Given the description of an element on the screen output the (x, y) to click on. 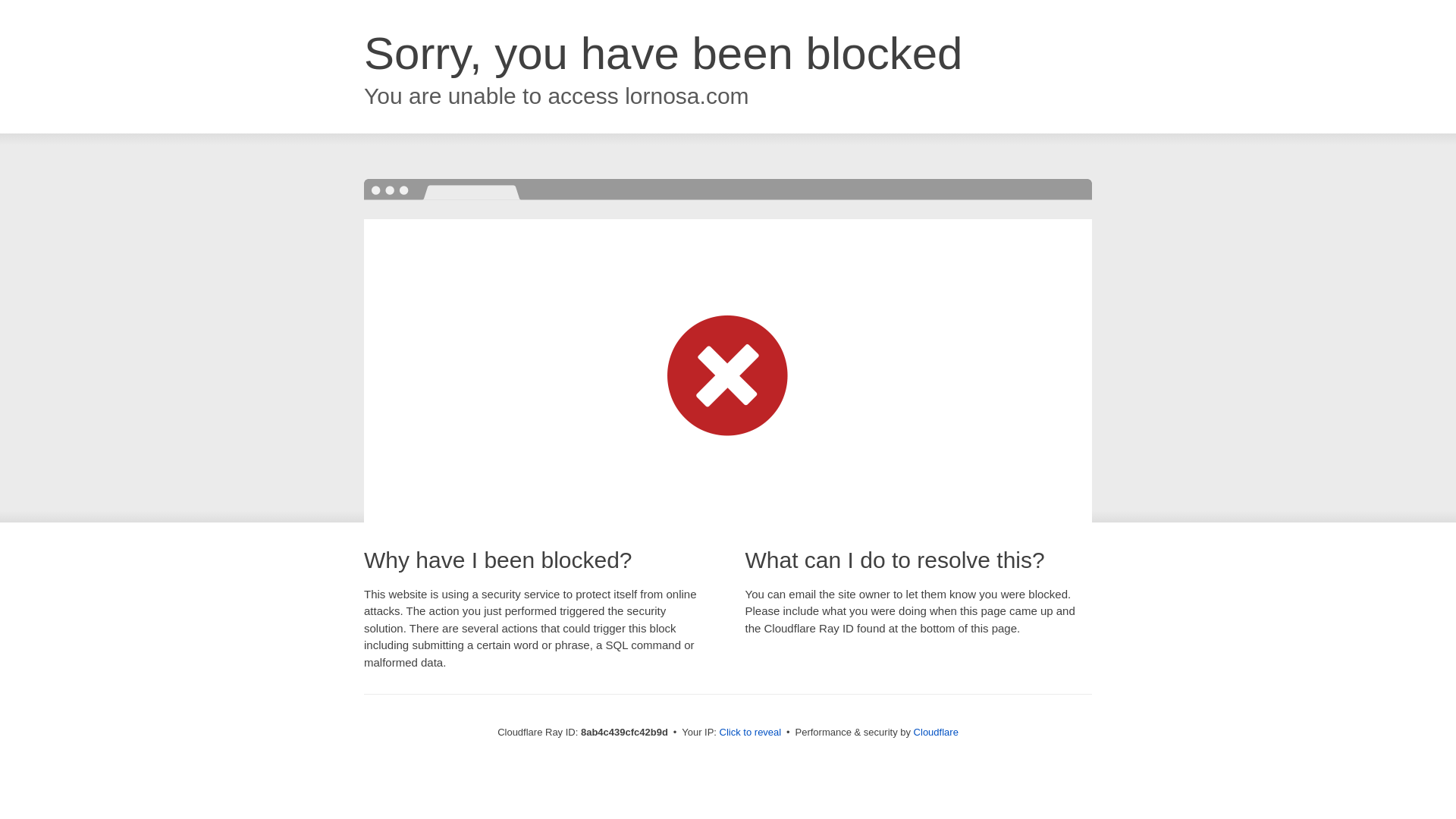
Cloudflare (936, 731)
Click to reveal (750, 732)
